Given the description of an element on the screen output the (x, y) to click on. 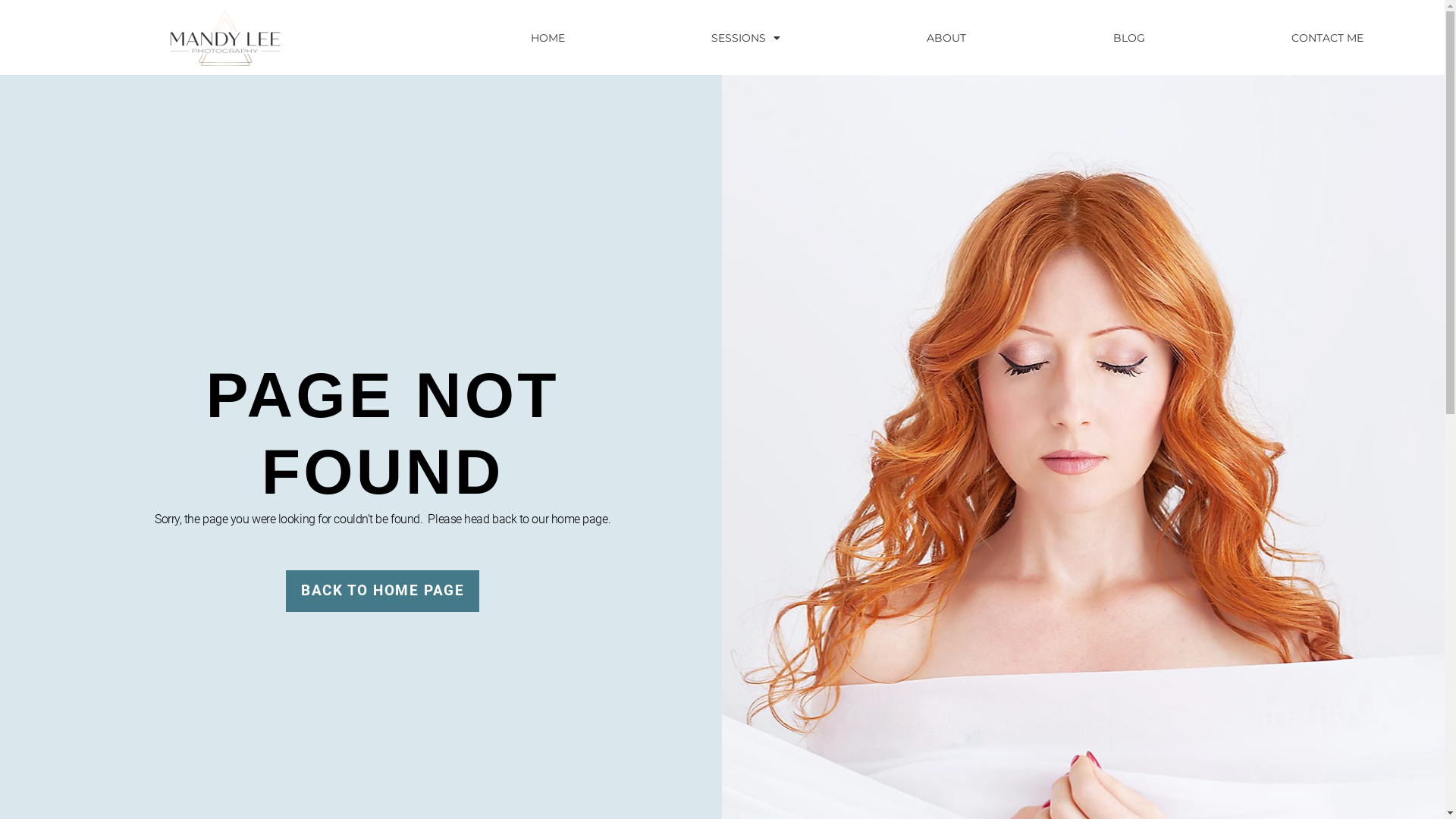
BACK TO HOME PAGE Element type: text (382, 590)
ABOUT Element type: text (946, 36)
SESSIONS Element type: text (745, 36)
HOME Element type: text (547, 36)
CONTACT ME Element type: text (1327, 36)
BLOG Element type: text (1128, 36)
